Given the description of an element on the screen output the (x, y) to click on. 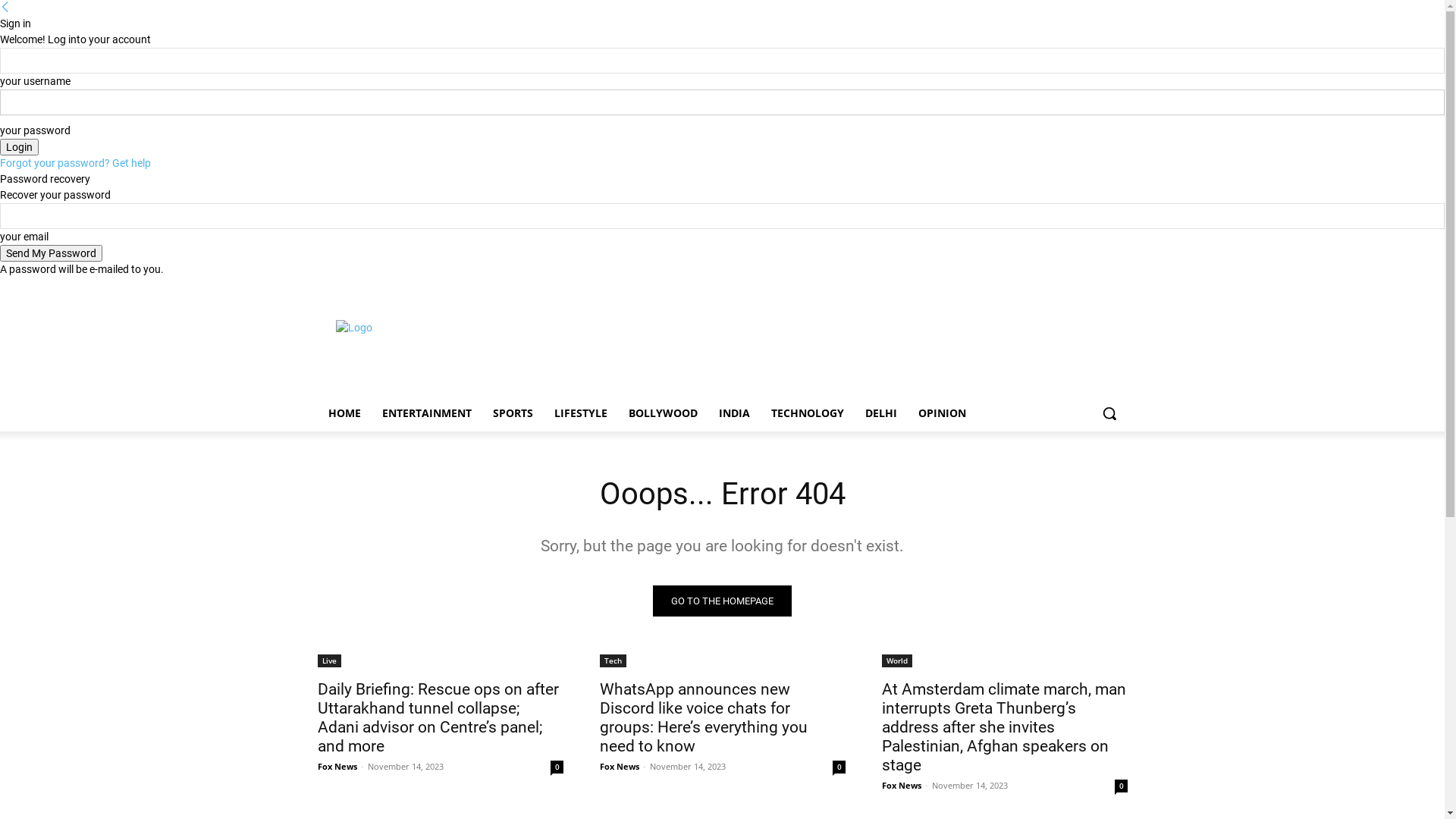
Forgot your password? Get help Element type: text (75, 162)
HOME Element type: text (343, 413)
OPINION Element type: text (940, 413)
0 Element type: text (838, 766)
Fox News Element type: text (336, 765)
Live Element type: text (328, 660)
BOLLYWOOD Element type: text (662, 413)
World Element type: text (896, 660)
0 Element type: text (556, 766)
SPORTS Element type: text (512, 413)
TECHNOLOGY Element type: text (806, 413)
LIFESTYLE Element type: text (579, 413)
Fox News Element type: text (900, 784)
Fox News Element type: text (618, 765)
GO TO THE HOMEPAGE Element type: text (721, 600)
Tech Element type: text (612, 660)
INDIA Element type: text (734, 413)
ENTERTAINMENT Element type: text (426, 413)
0 Element type: text (1120, 785)
Sign in / Join Element type: text (483, 287)
DELHI Element type: text (879, 413)
